Given the description of an element on the screen output the (x, y) to click on. 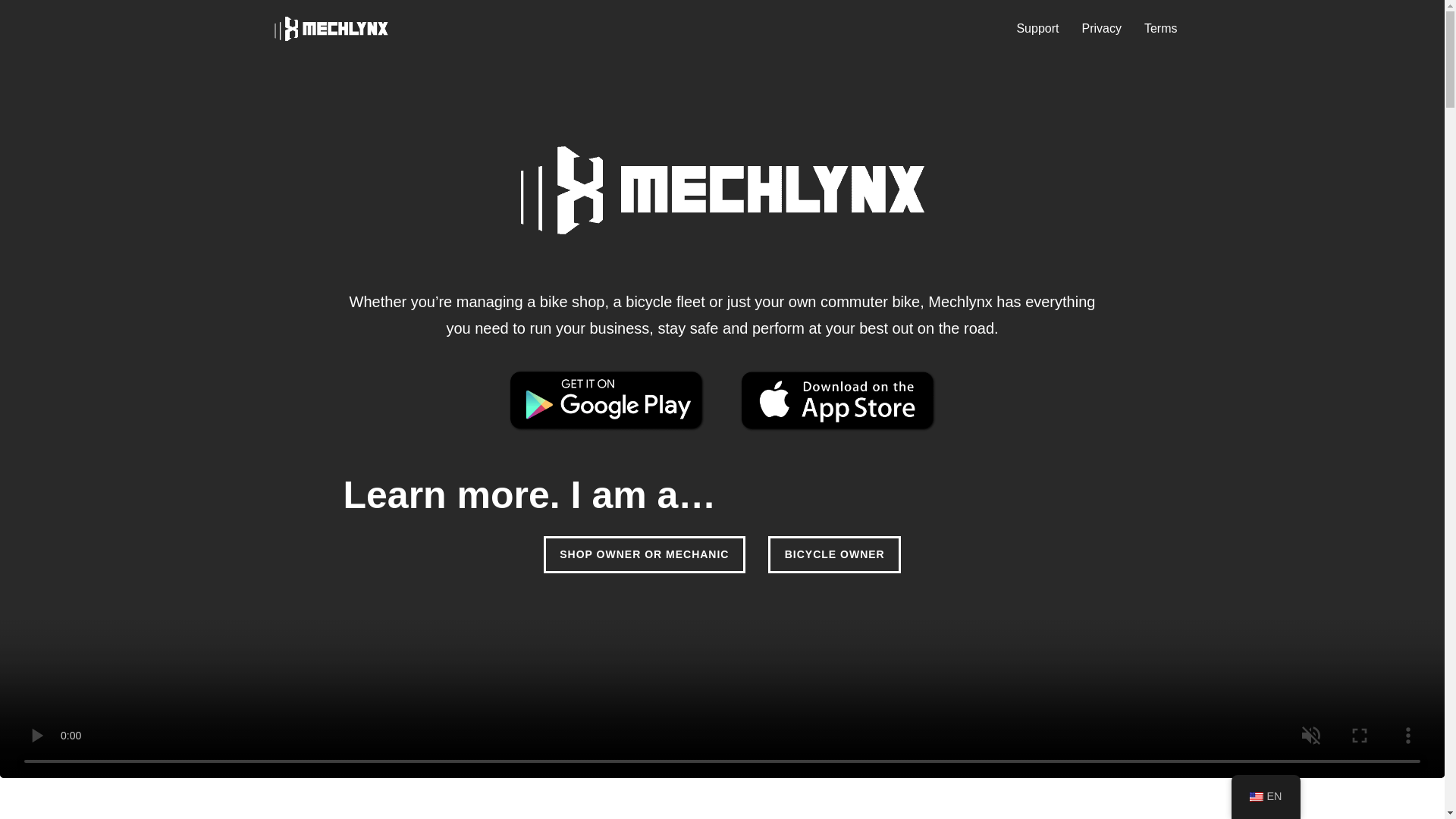
Support (1037, 28)
Terms (1160, 28)
Privacy (1101, 28)
BICYCLE OWNER (834, 554)
EN (1265, 796)
English (1256, 796)
SHOP OWNER OR MECHANIC (644, 554)
